Given the description of an element on the screen output the (x, y) to click on. 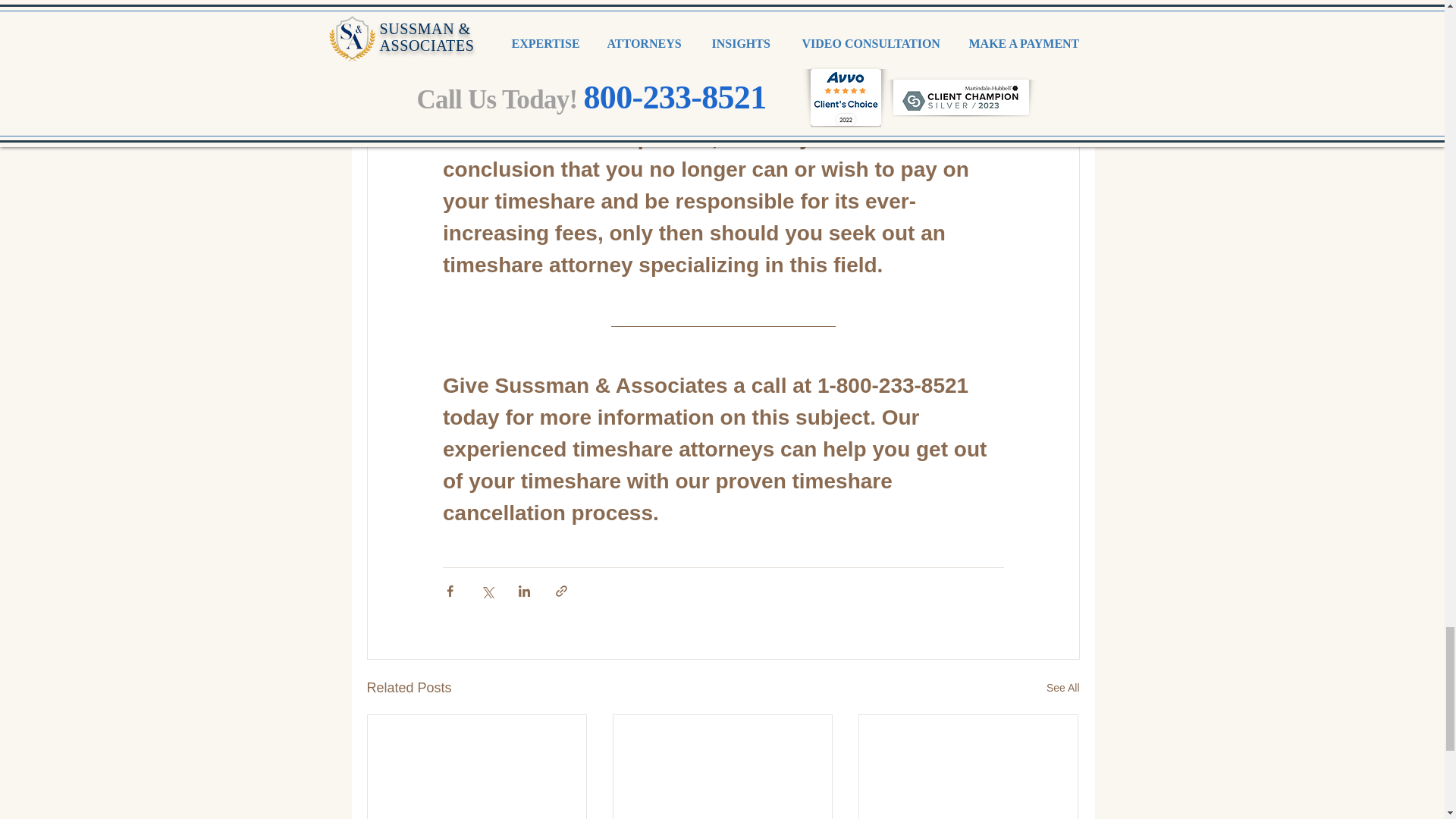
See All (1063, 688)
